Given the description of an element on the screen output the (x, y) to click on. 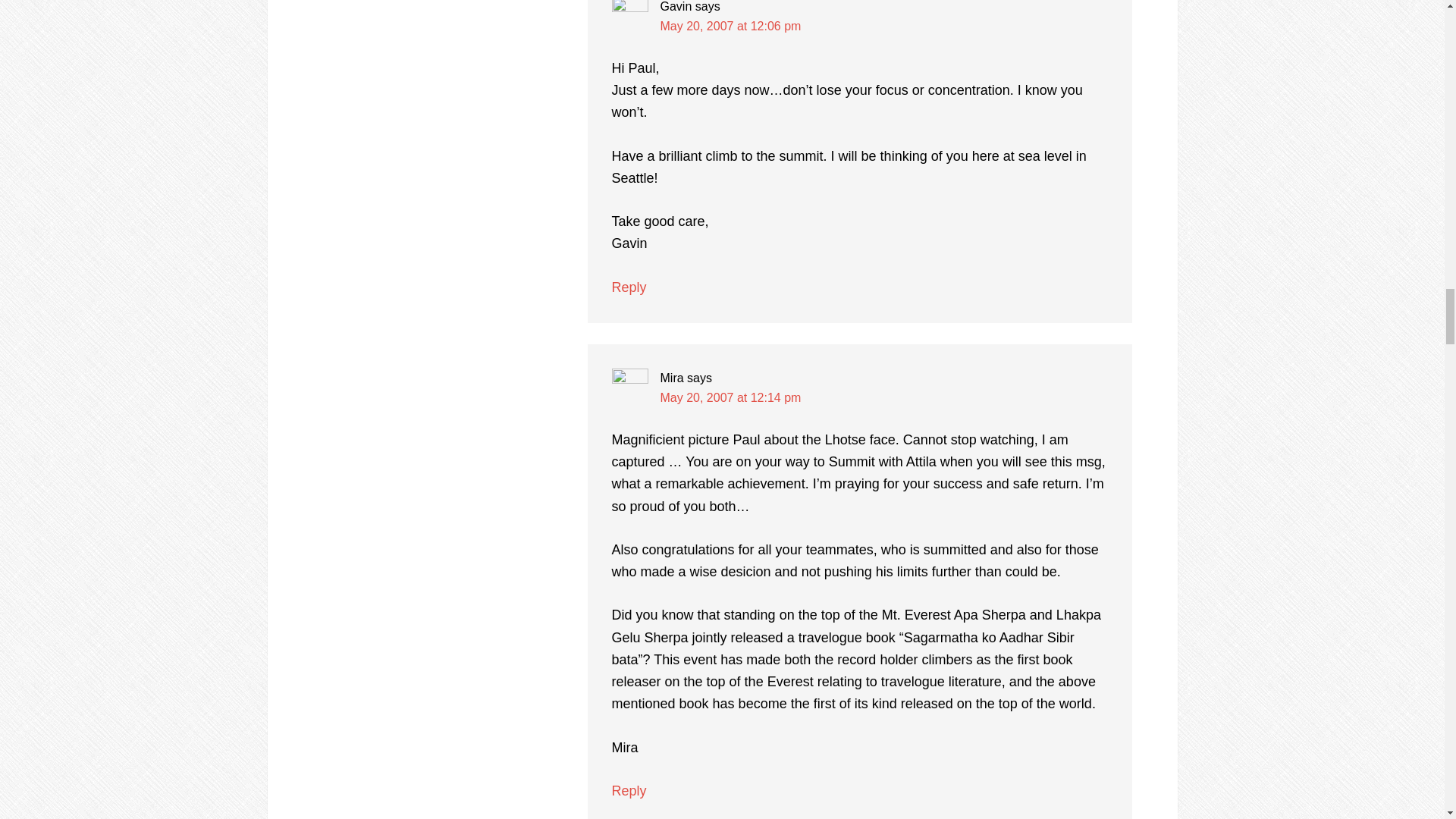
Reply (628, 790)
Reply (628, 287)
May 20, 2007 at 12:14 pm (729, 397)
May 20, 2007 at 12:06 pm (729, 25)
